Given the description of an element on the screen output the (x, y) to click on. 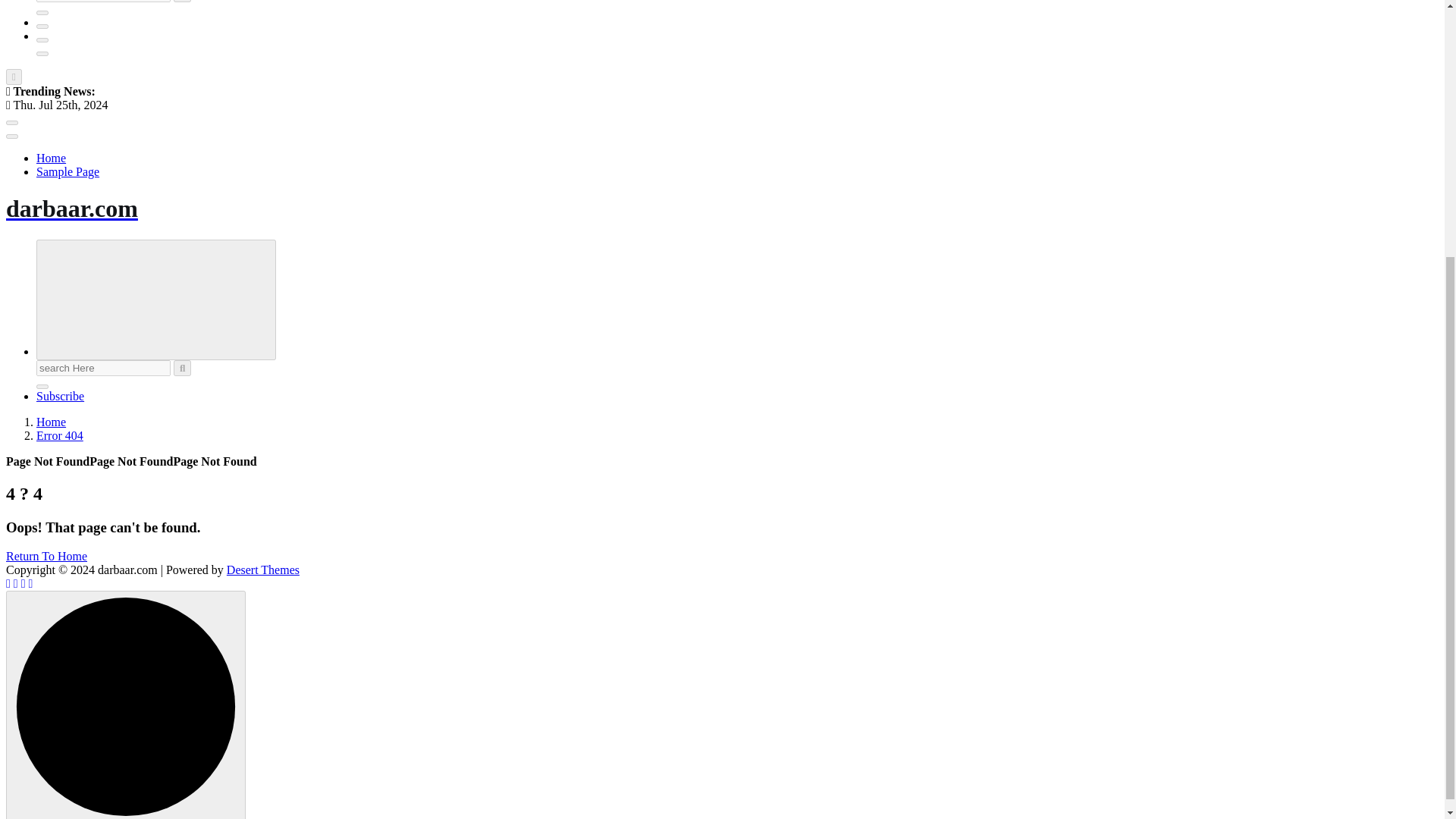
Subscribe (60, 395)
Home (50, 157)
Error 404 (59, 435)
Return To Home (46, 555)
Home (50, 421)
Desert Themes (263, 569)
Sample Page (67, 171)
Home (50, 157)
